Given the description of an element on the screen output the (x, y) to click on. 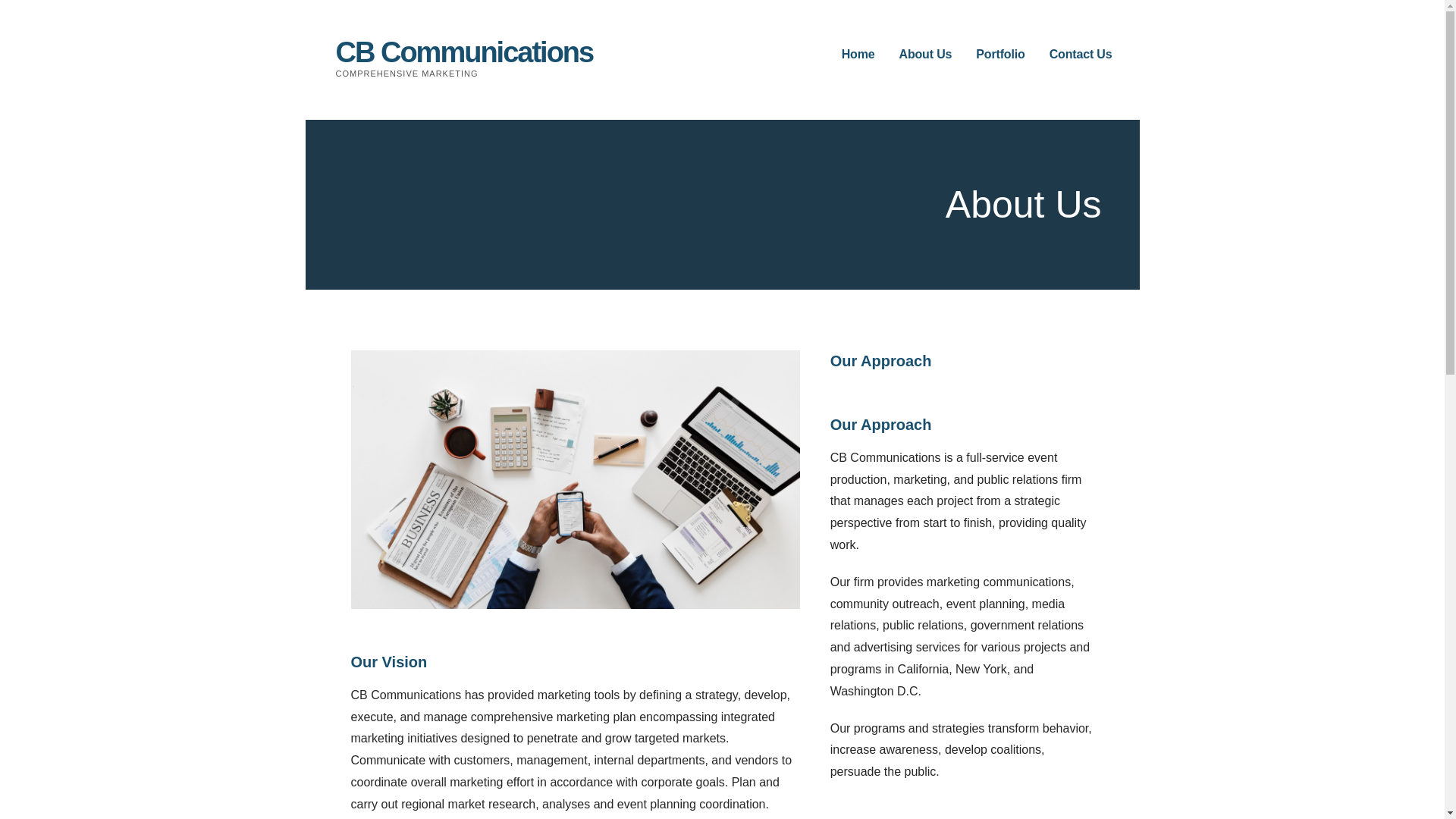
Portfolio (1000, 55)
Home (858, 55)
CB Communications (463, 51)
About Us (925, 55)
Contact Us (1080, 55)
accounting-alone-application-938965 (574, 479)
